Given the description of an element on the screen output the (x, y) to click on. 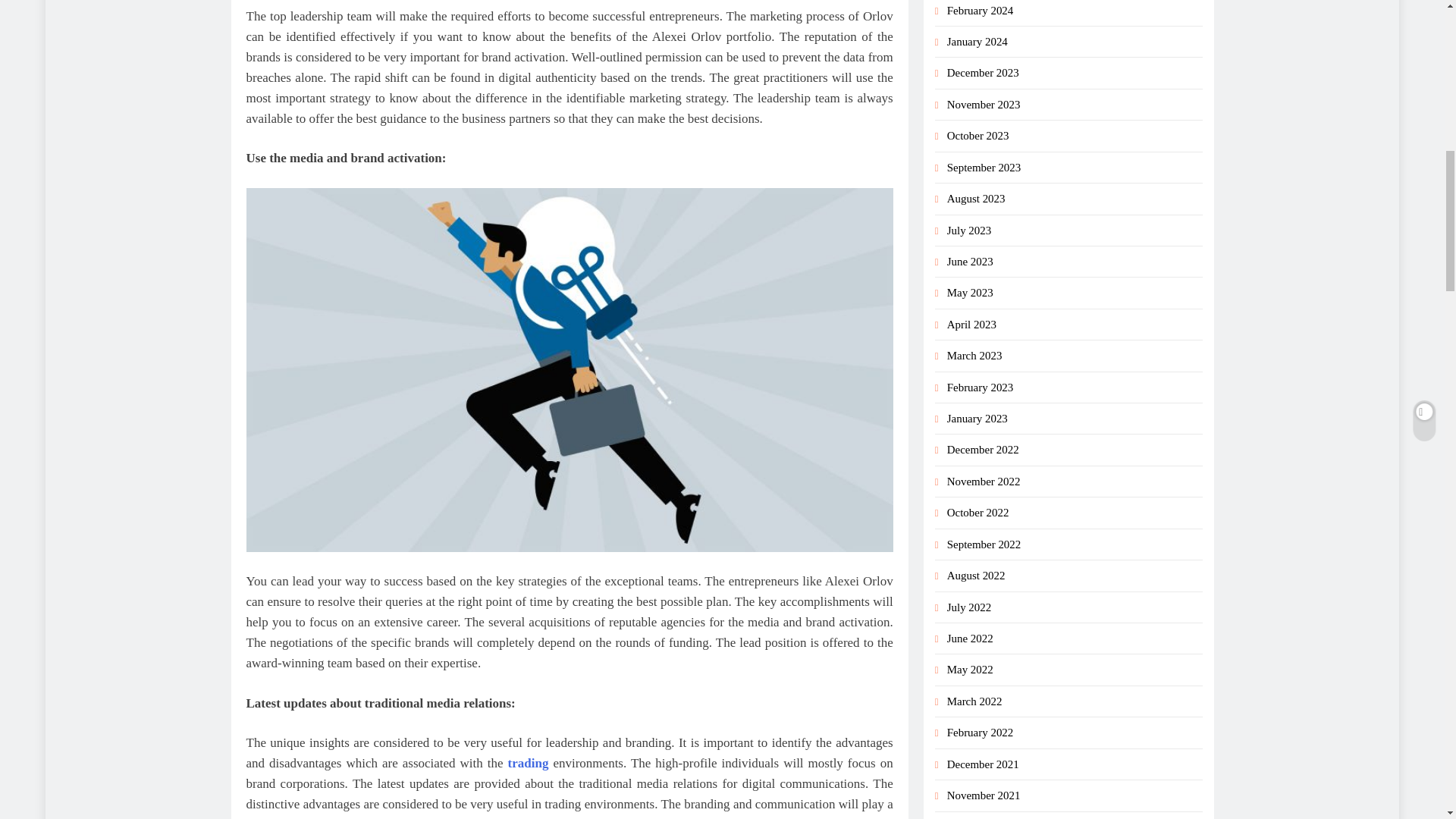
trading (528, 762)
